Given the description of an element on the screen output the (x, y) to click on. 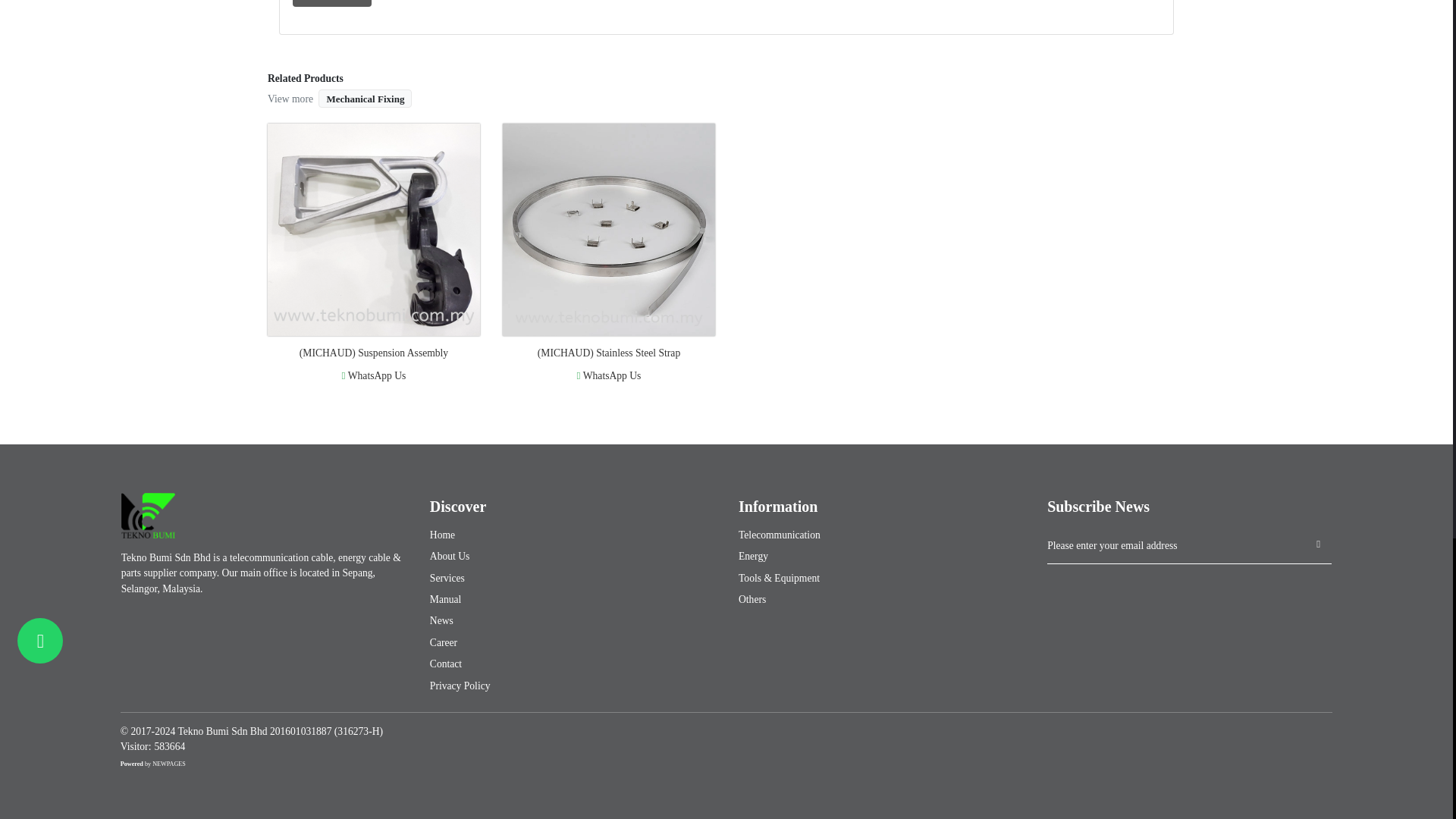
Send Message (331, 2)
